Given the description of an element on the screen output the (x, y) to click on. 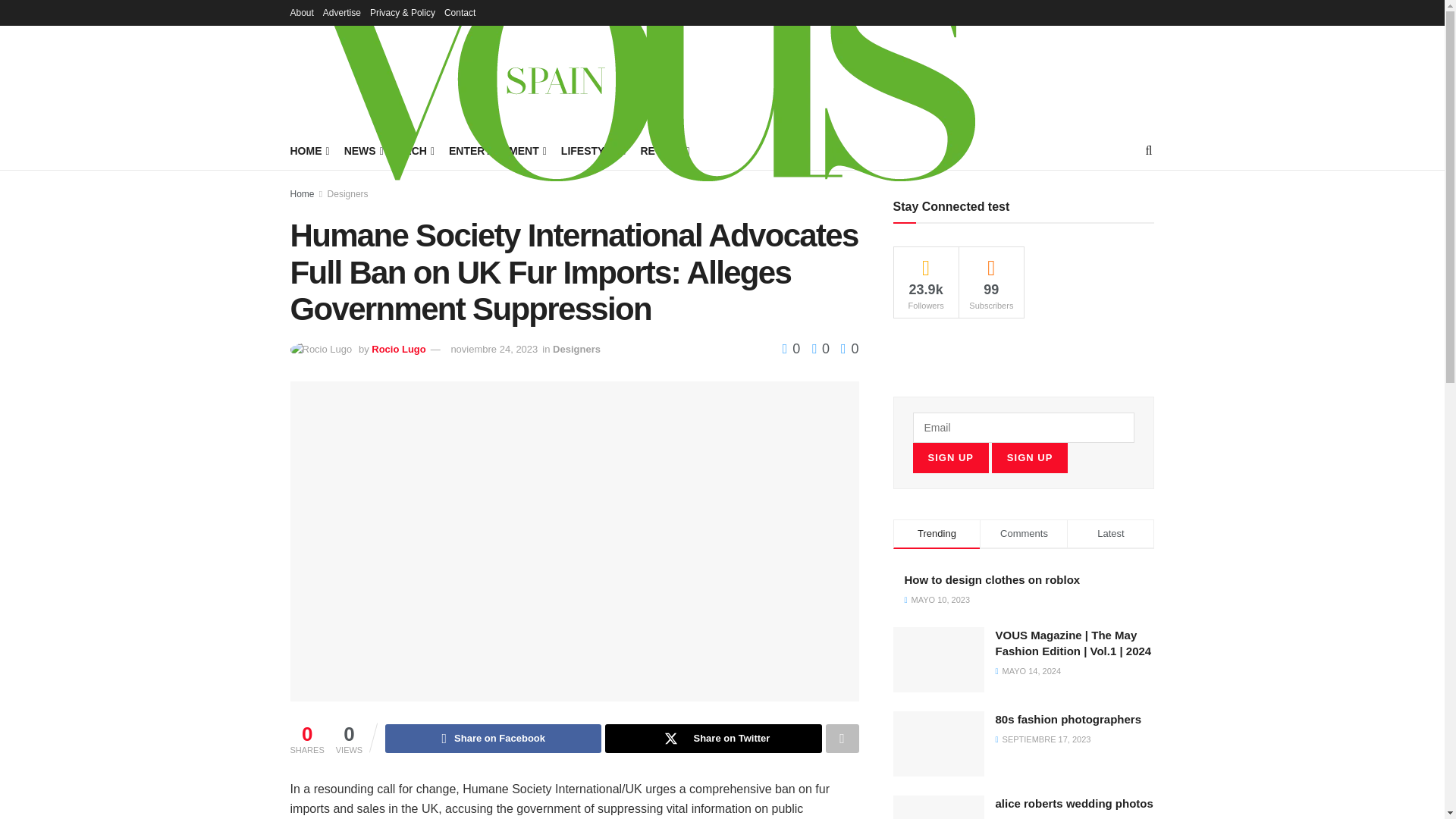
HOME (307, 150)
Contact (460, 12)
SIGN UP (950, 458)
SIGN UP (1029, 458)
TECH (414, 150)
Advertise (342, 12)
About (301, 12)
NEWS (362, 150)
